Given the description of an element on the screen output the (x, y) to click on. 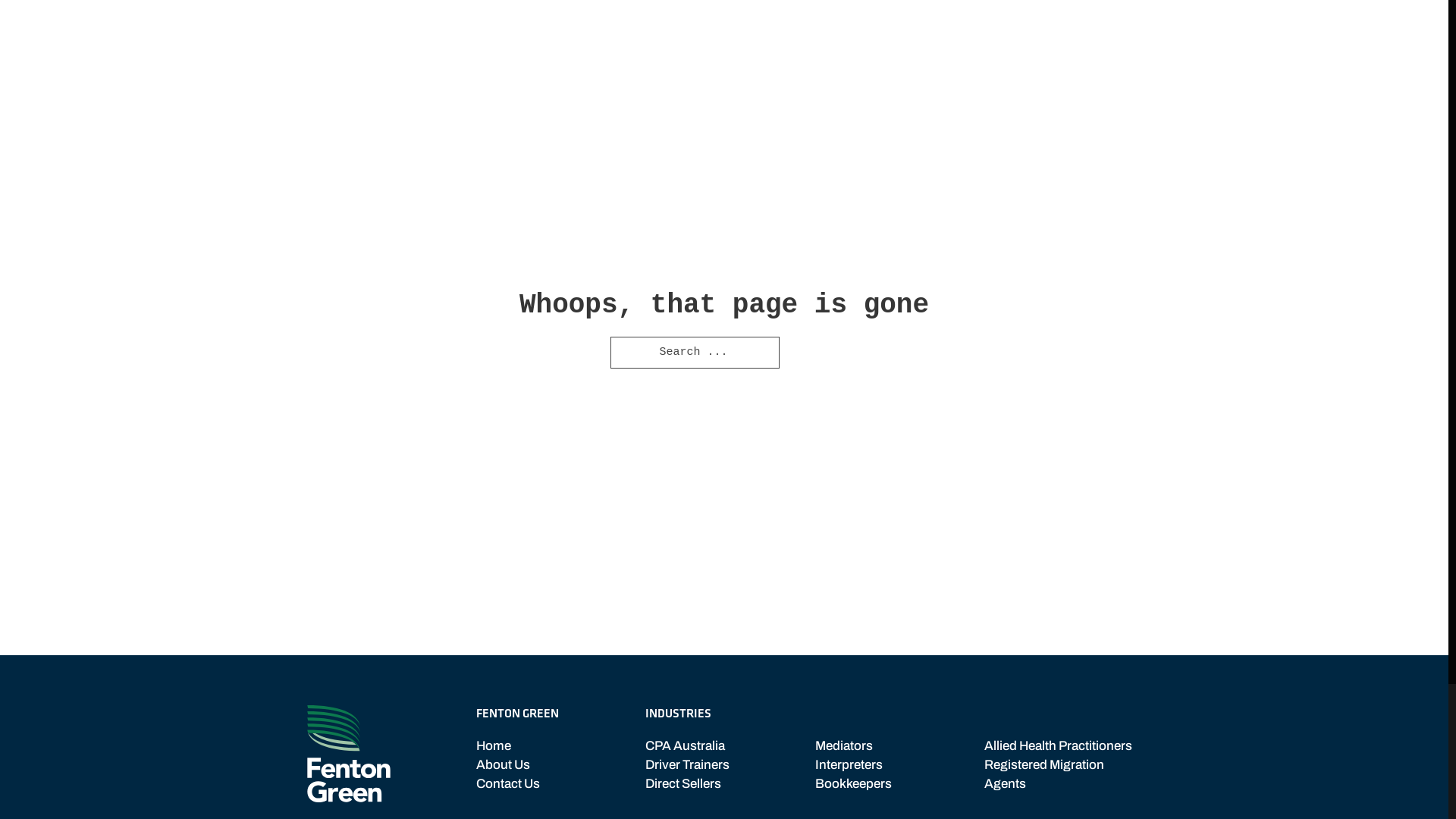
INDUSTRIES Element type: text (979, 29)
Allied Health Practitioners Element type: text (1062, 745)
Mediators Element type: text (853, 745)
Interpreters Element type: text (853, 764)
Driver Trainers Element type: text (687, 764)
OUR STORY Element type: text (861, 29)
HOME Element type: text (769, 29)
About Us Element type: text (507, 764)
CONTACT Element type: text (1103, 29)
Registered Migration Agents Element type: text (1062, 774)
Bookkeepers Element type: text (853, 783)
Contact Us Element type: text (507, 783)
Direct Sellers Element type: text (687, 783)
Home Element type: text (507, 745)
CPA Australia Element type: text (687, 745)
